Given the description of an element on the screen output the (x, y) to click on. 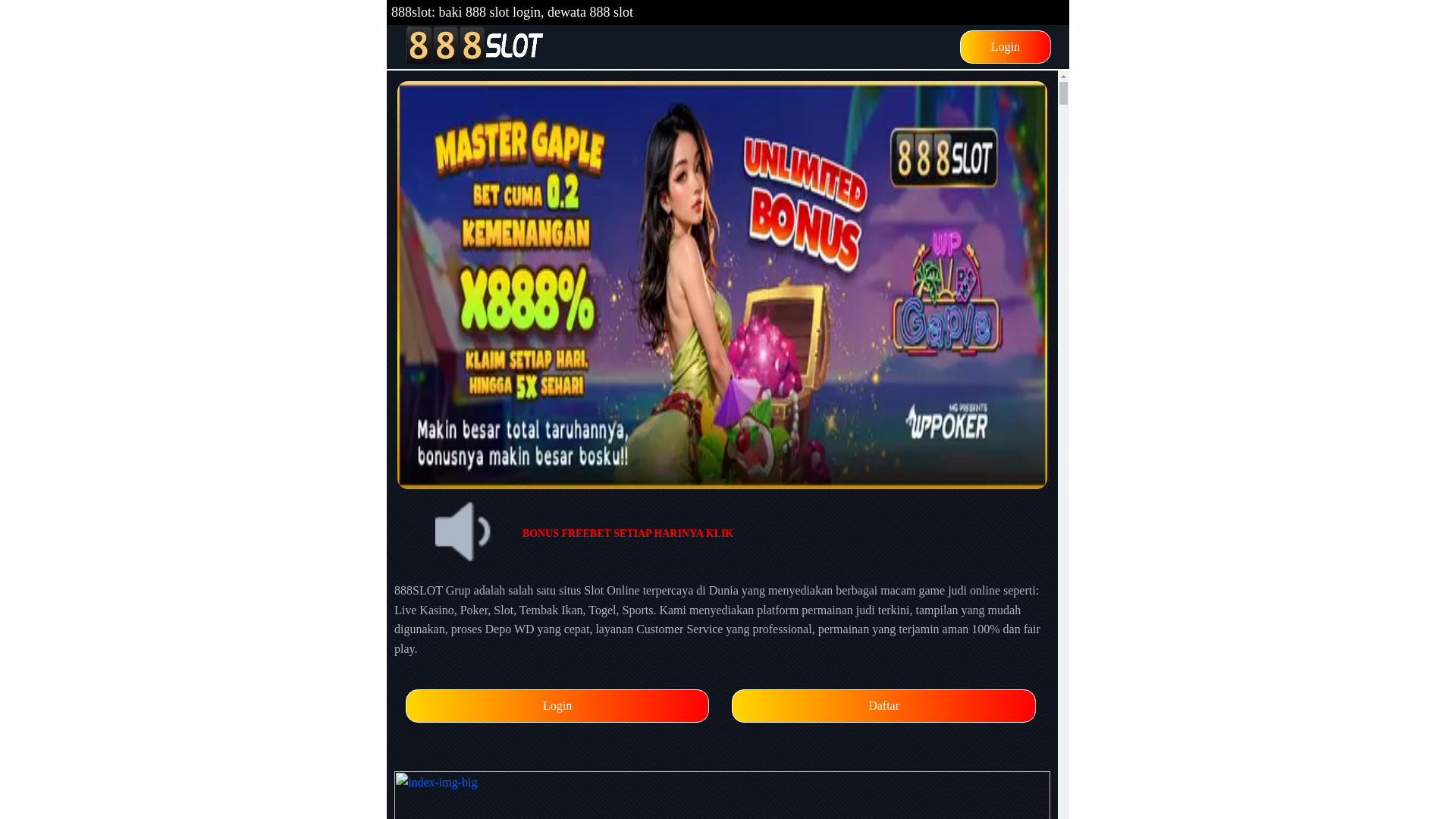
888slot (474, 46)
